Given the description of an element on the screen output the (x, y) to click on. 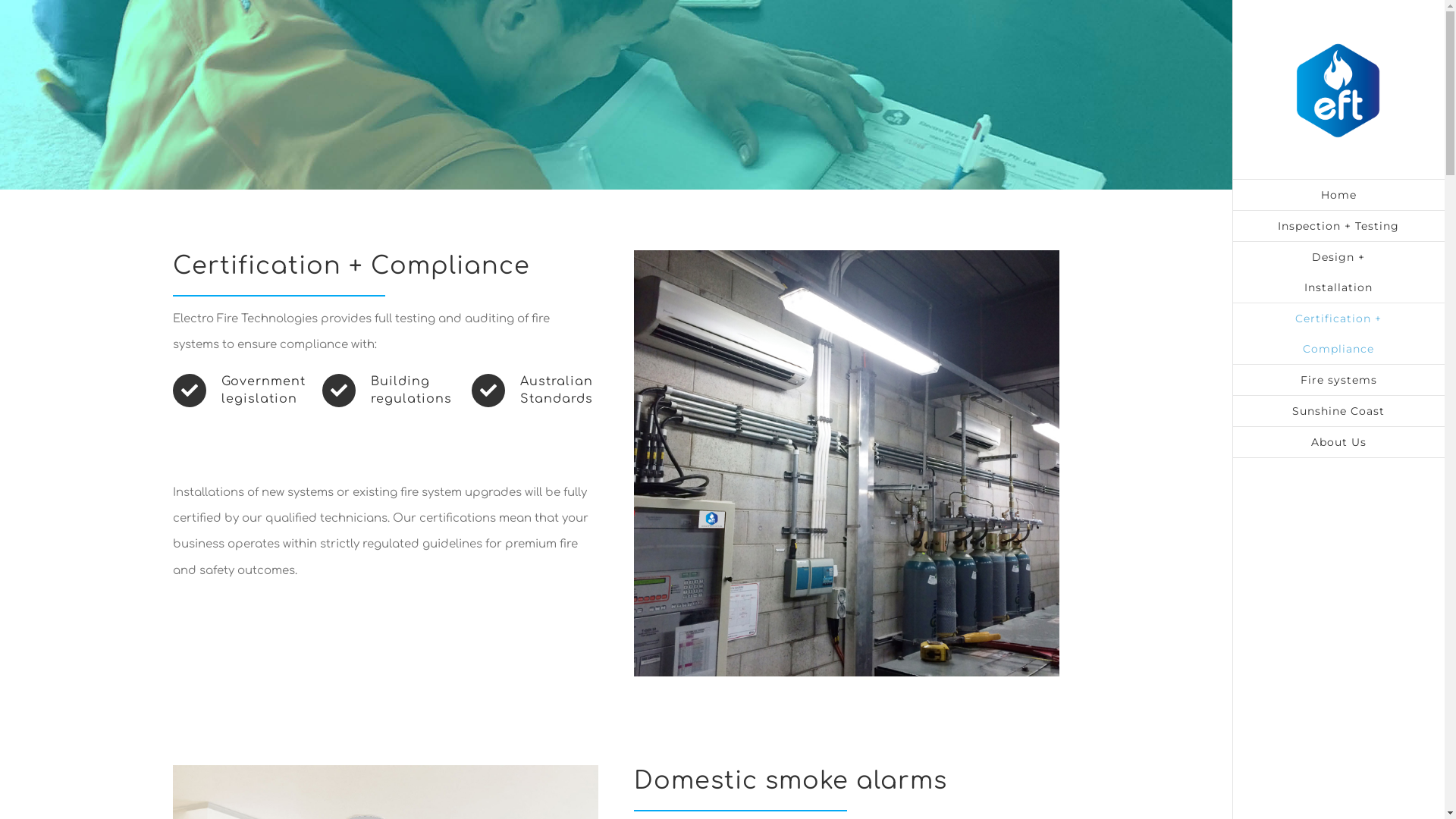
Fire systems Element type: text (1338, 379)
Inspection + Testing Element type: text (1338, 225)
Certification + Compliance Element type: text (1338, 333)
Sunshine Coast Element type: text (1338, 410)
Design + Installation Element type: text (1338, 272)
Home Element type: text (1338, 194)
About Us Element type: text (1338, 442)
